Given the description of an element on the screen output the (x, y) to click on. 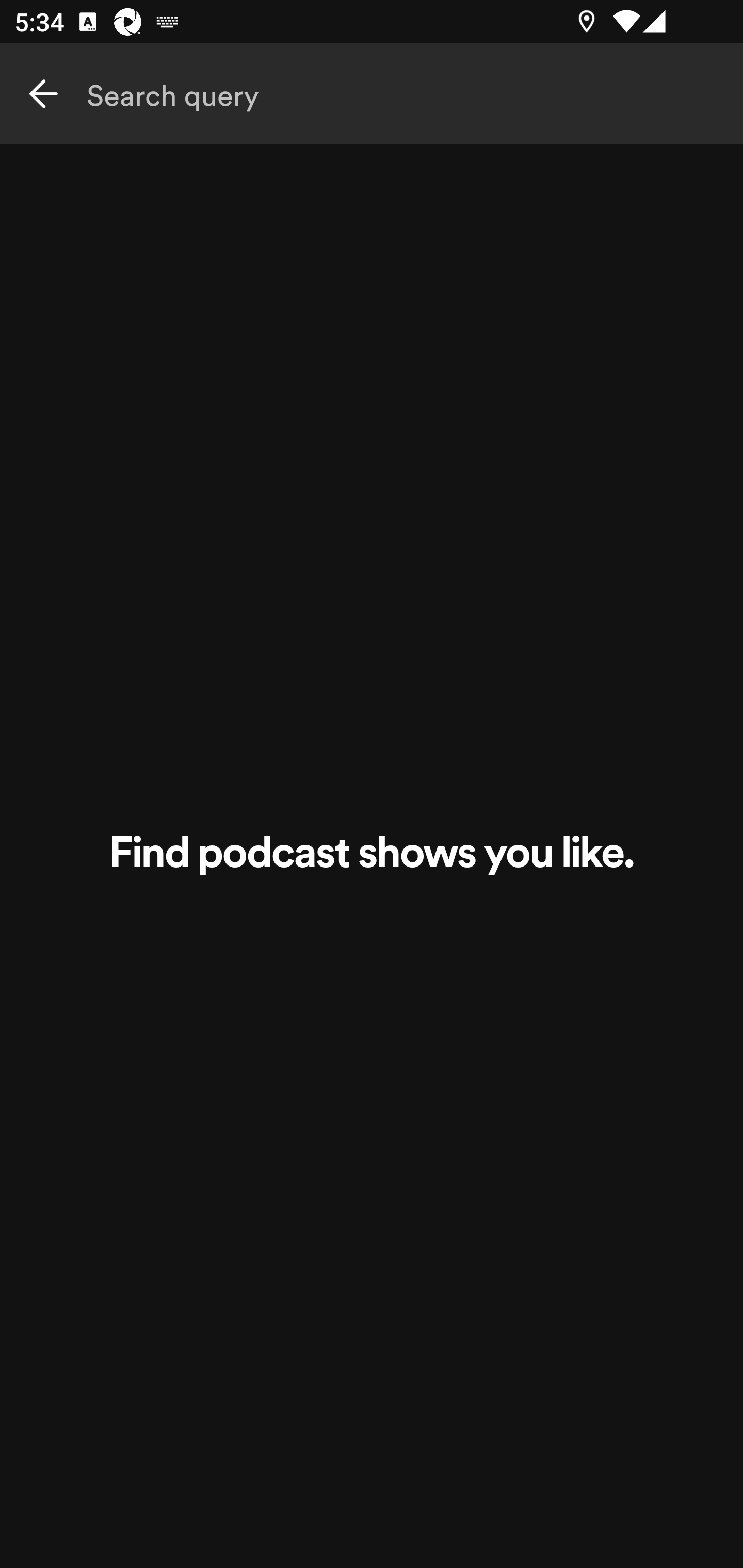
Search query (371, 93)
Cancel (43, 93)
